Given the description of an element on the screen output the (x, y) to click on. 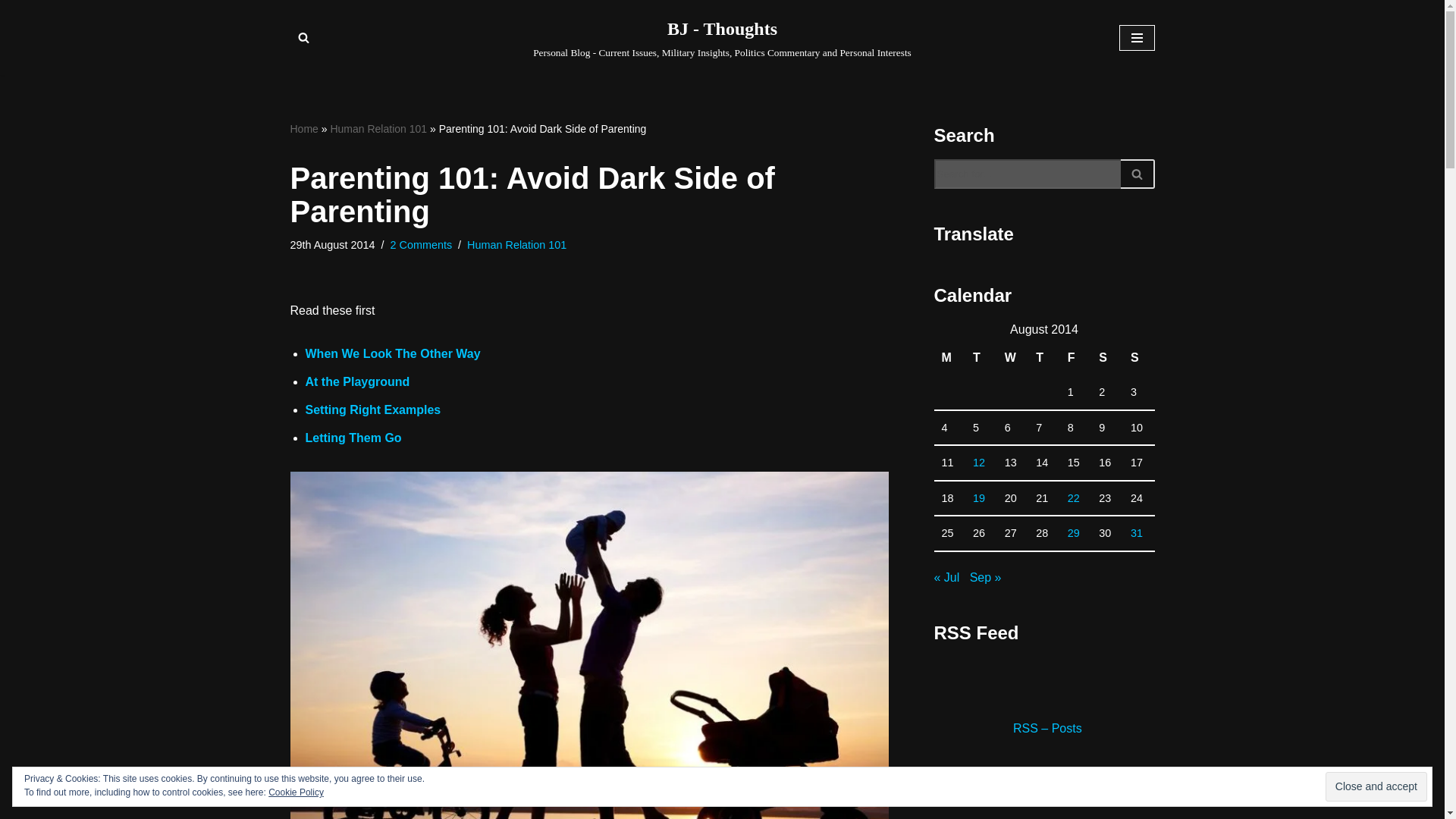
Skip to content (11, 31)
Home (303, 128)
2 Comments (421, 244)
At the Playground (356, 381)
When We Look The Other Way (392, 353)
Letting Them Go (352, 437)
Close and accept (1375, 786)
Setting Right Examples (372, 409)
